Given the description of an element on the screen output the (x, y) to click on. 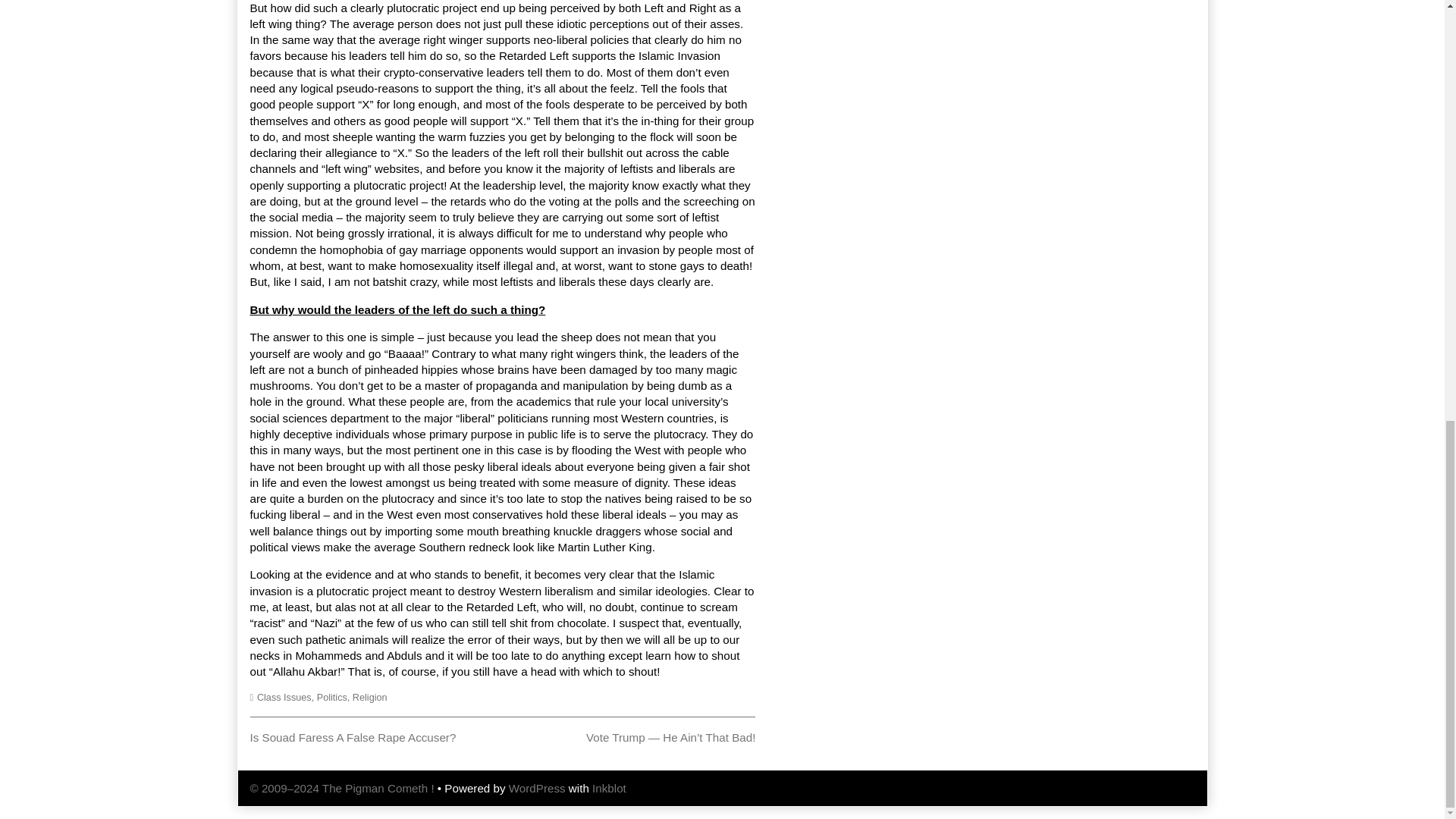
Class Issues (353, 737)
Religion (284, 697)
Politics (369, 697)
